Given the description of an element on the screen output the (x, y) to click on. 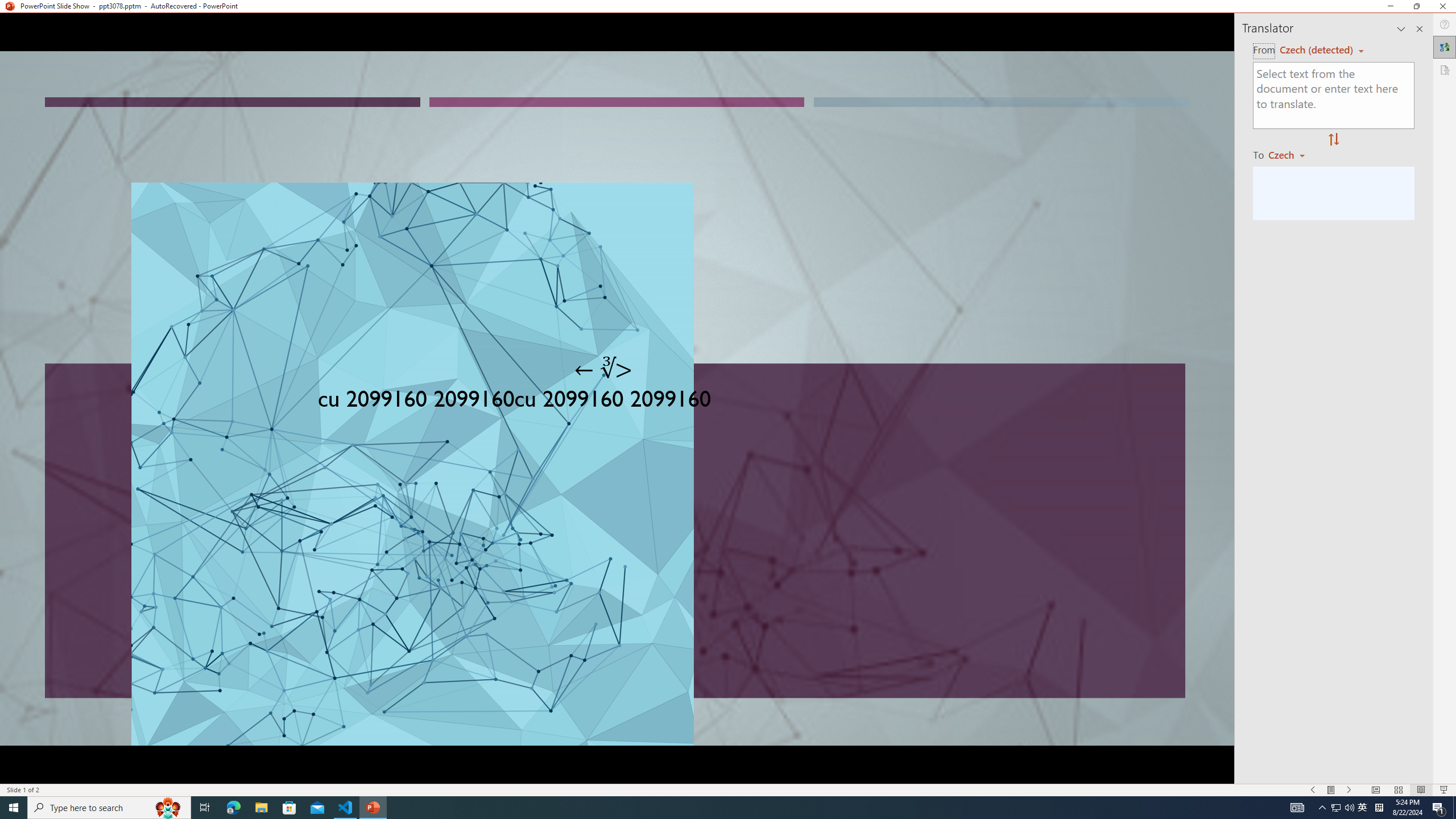
Slide Show Previous On (1313, 790)
